Given the description of an element on the screen output the (x, y) to click on. 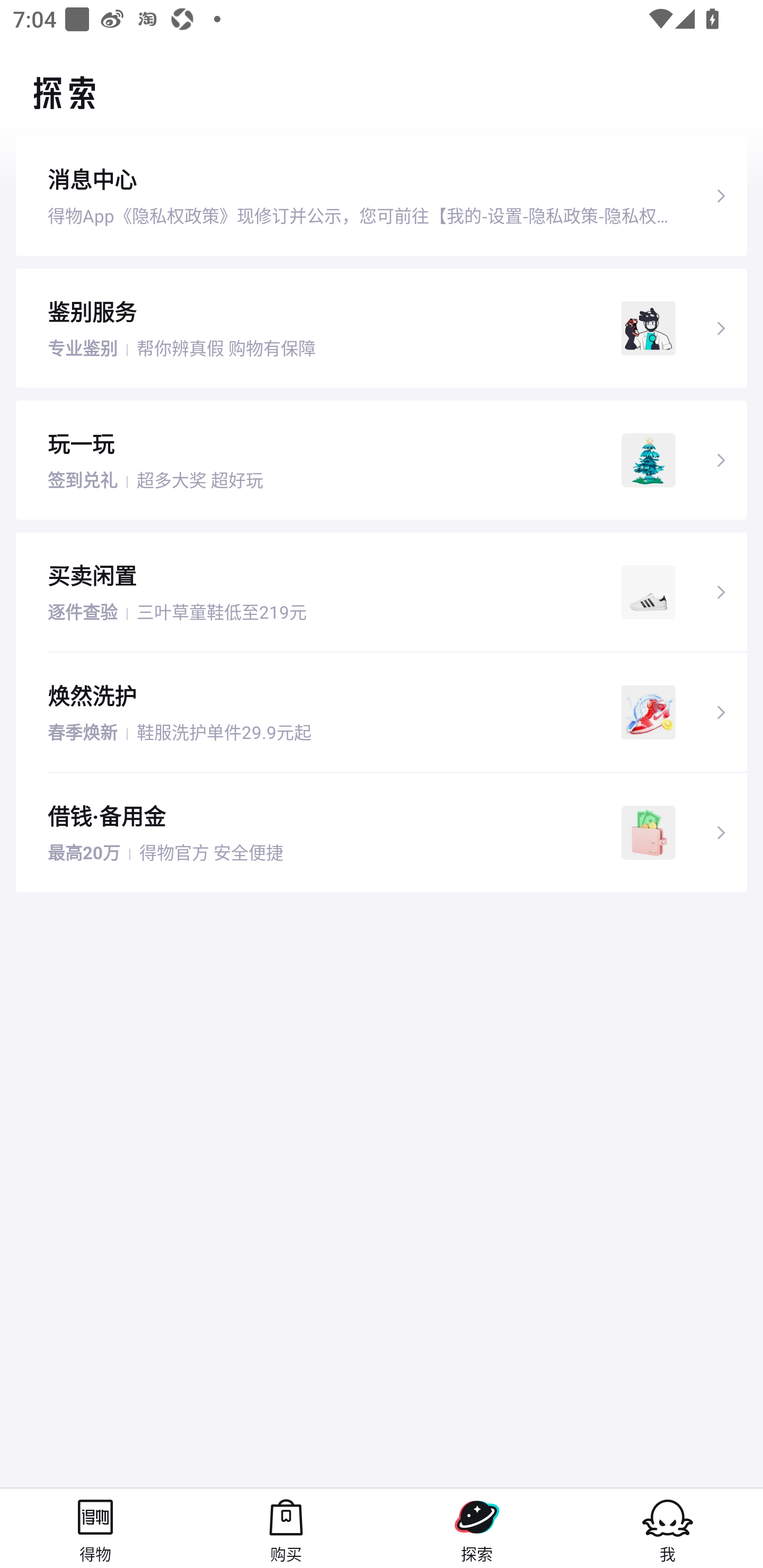
鉴别服务 专业鉴别 丨 帮你辨真假 购物有保障 (381, 327)
玩一玩 签到兑礼 丨 超多大奖 超好玩 (381, 459)
买卖闲置 逐件查验 丨 三叶草童鞋低至219元 (381, 592)
焕然洗护 春季焕新 丨 鞋服洗护单件29.9元起 (381, 711)
借钱·备用金 最高20万 丨 得物官方 安全便捷 (381, 832)
得物 (95, 1528)
购买 (285, 1528)
探索 (476, 1528)
我 (667, 1528)
